Given the description of an element on the screen output the (x, y) to click on. 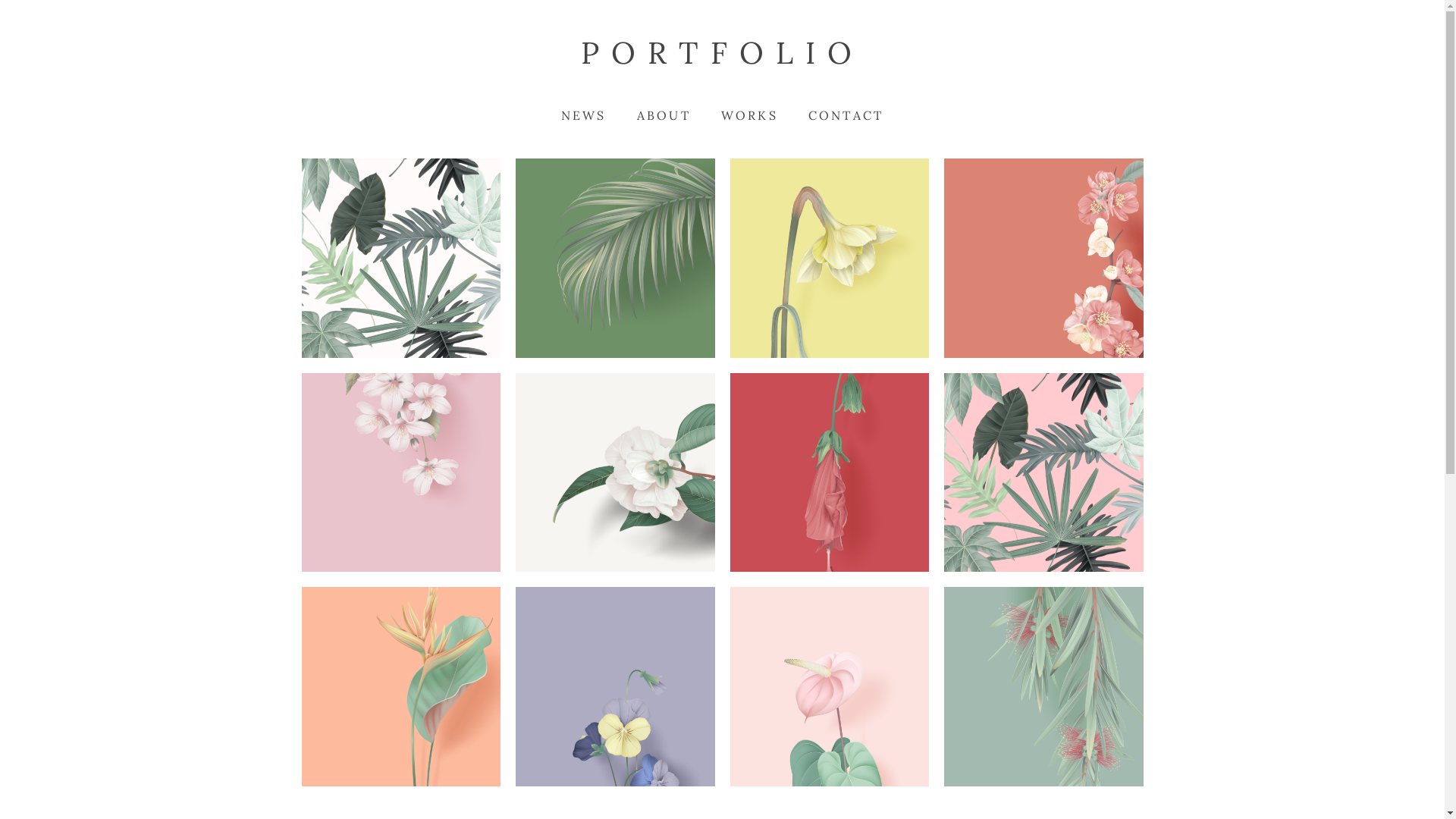
CONTACT Element type: text (845, 115)
NEWS Element type: text (583, 115)
WORKS Element type: text (749, 115)
ABOUT Element type: text (663, 115)
